Given the description of an element on the screen output the (x, y) to click on. 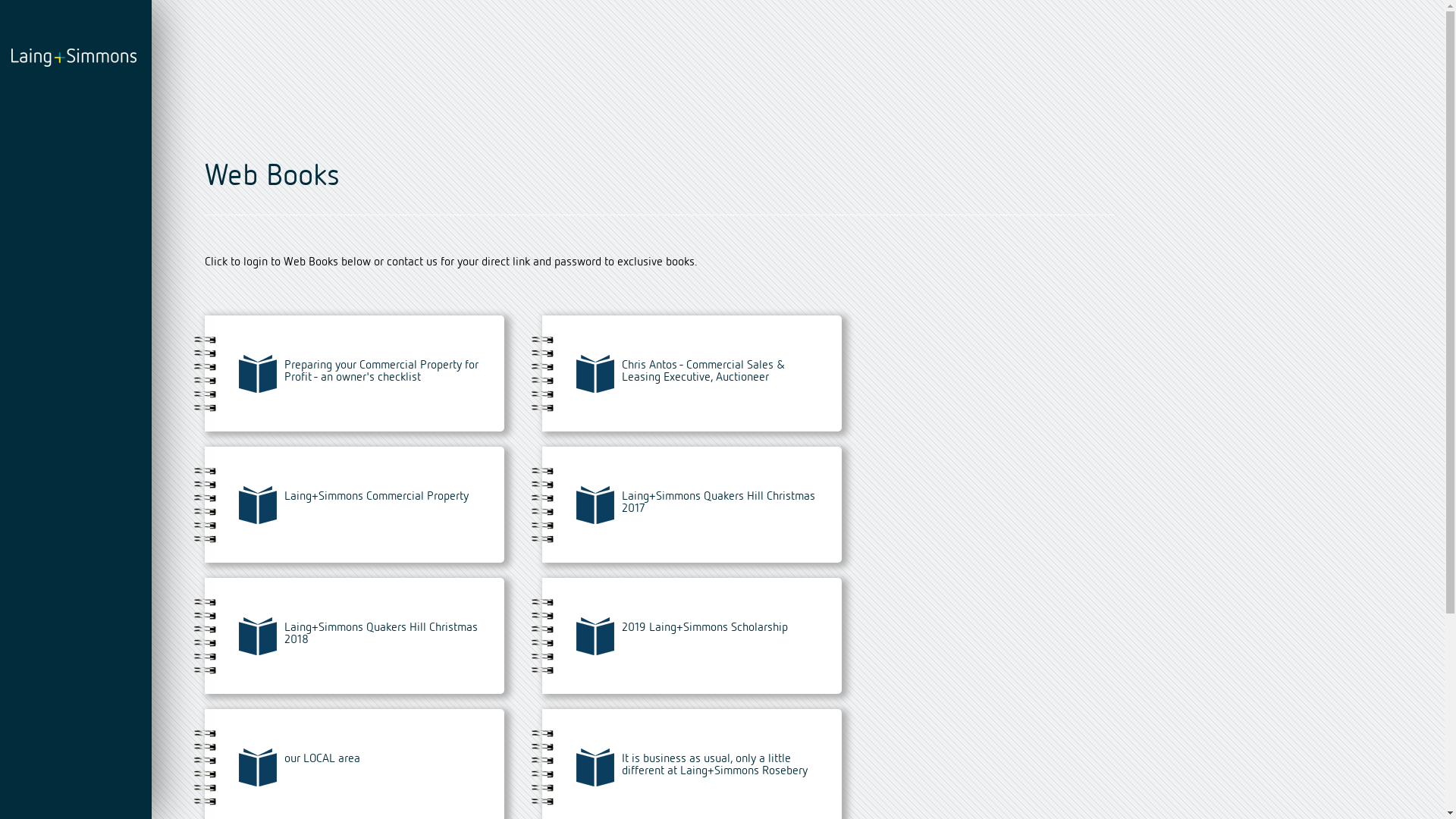
Laing+Simmons Quakers Hill Christmas 2017 Element type: text (691, 504)
Laing+Simmons Quakers Hill Christmas 2018 Element type: text (354, 635)
2019 Laing+Simmons Scholarship Element type: text (691, 635)
Laing+Simmons Commercial Property Element type: text (354, 504)
